Given the description of an element on the screen output the (x, y) to click on. 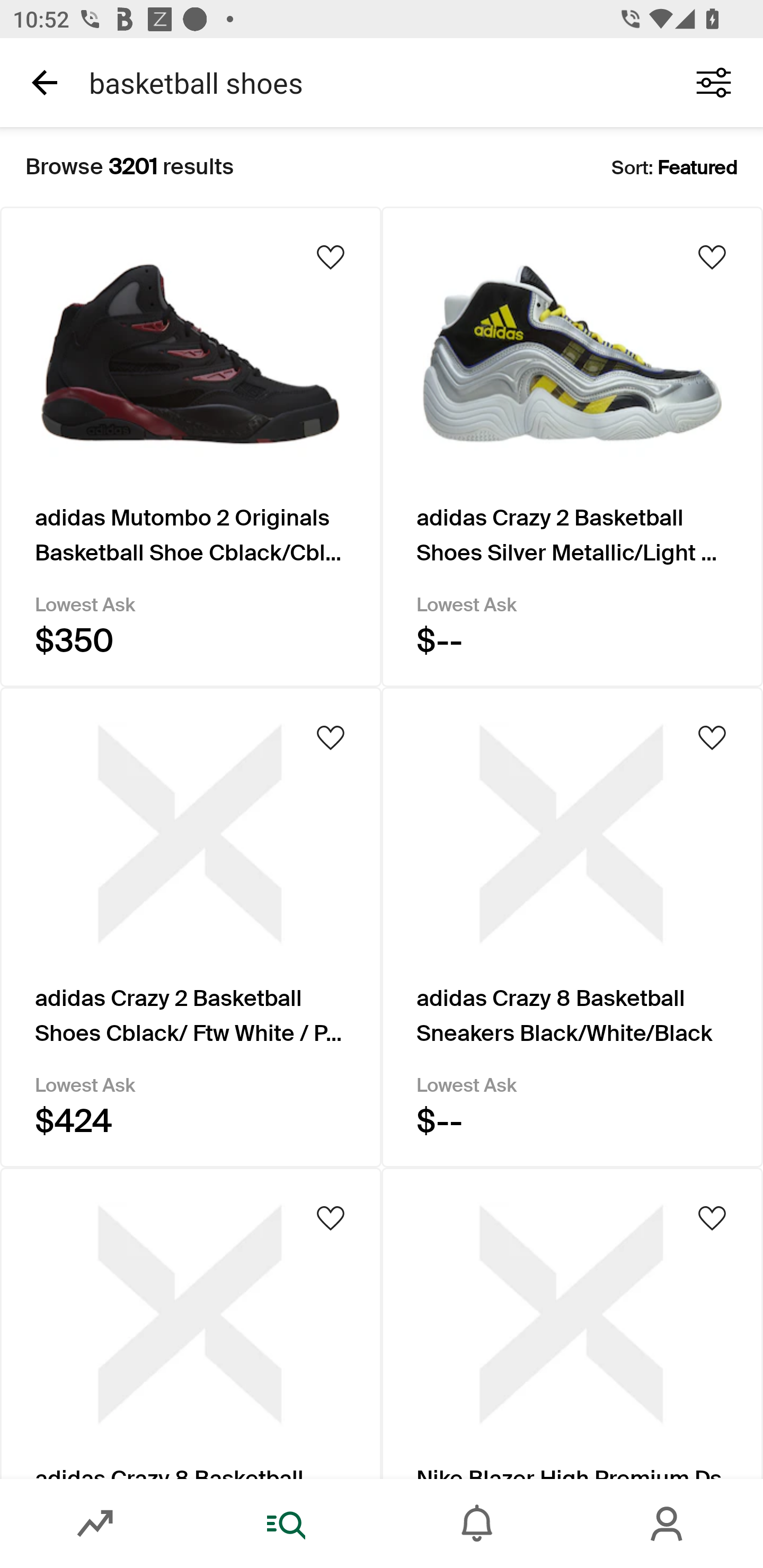
basketball shoes (370, 82)
Market (95, 1523)
Inbox (476, 1523)
Account (667, 1523)
